Given the description of an element on the screen output the (x, y) to click on. 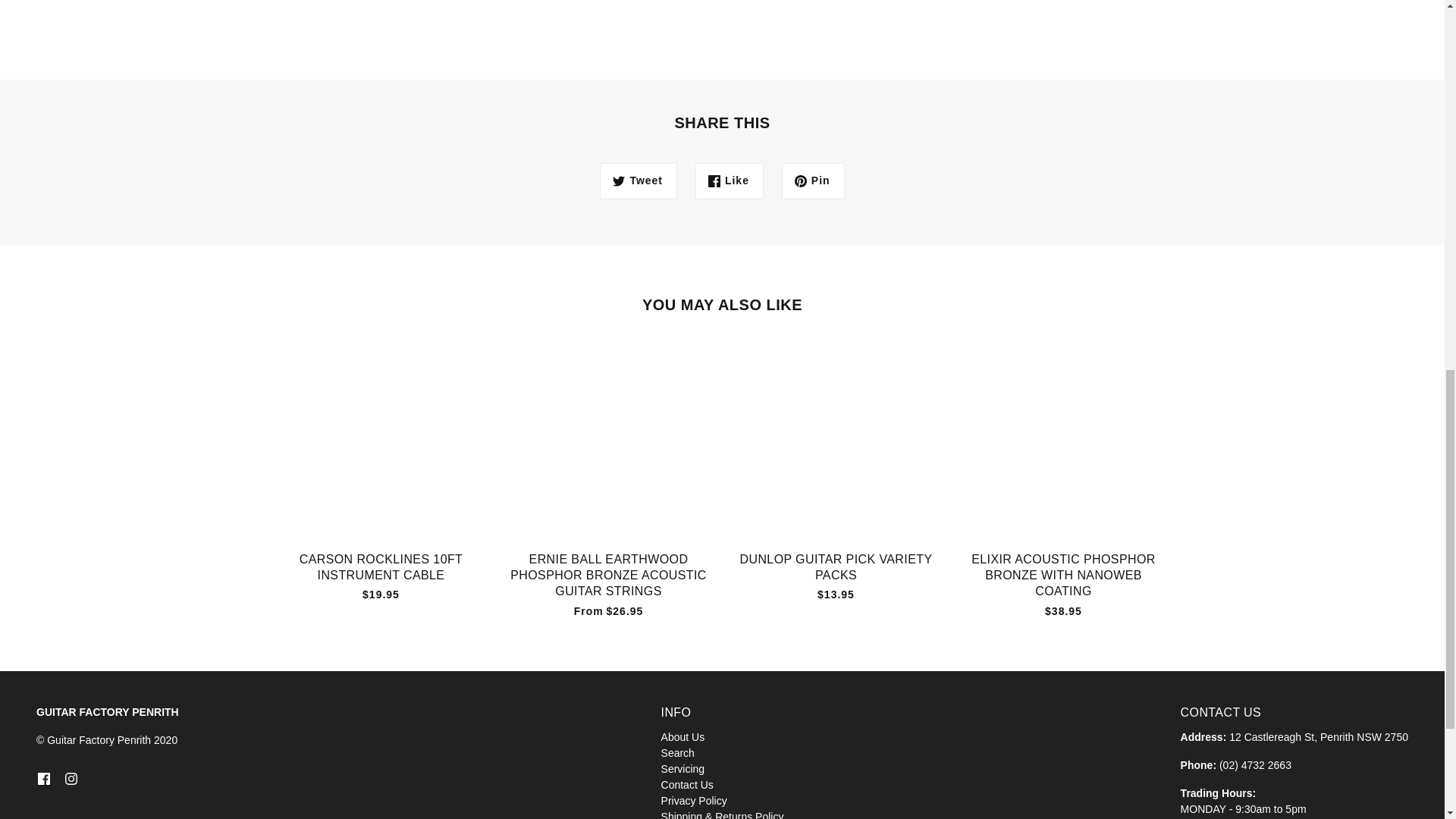
Privacy Policy (693, 800)
About Us (682, 736)
Contact Us (687, 784)
Servicing (682, 768)
Search (677, 752)
